Given the description of an element on the screen output the (x, y) to click on. 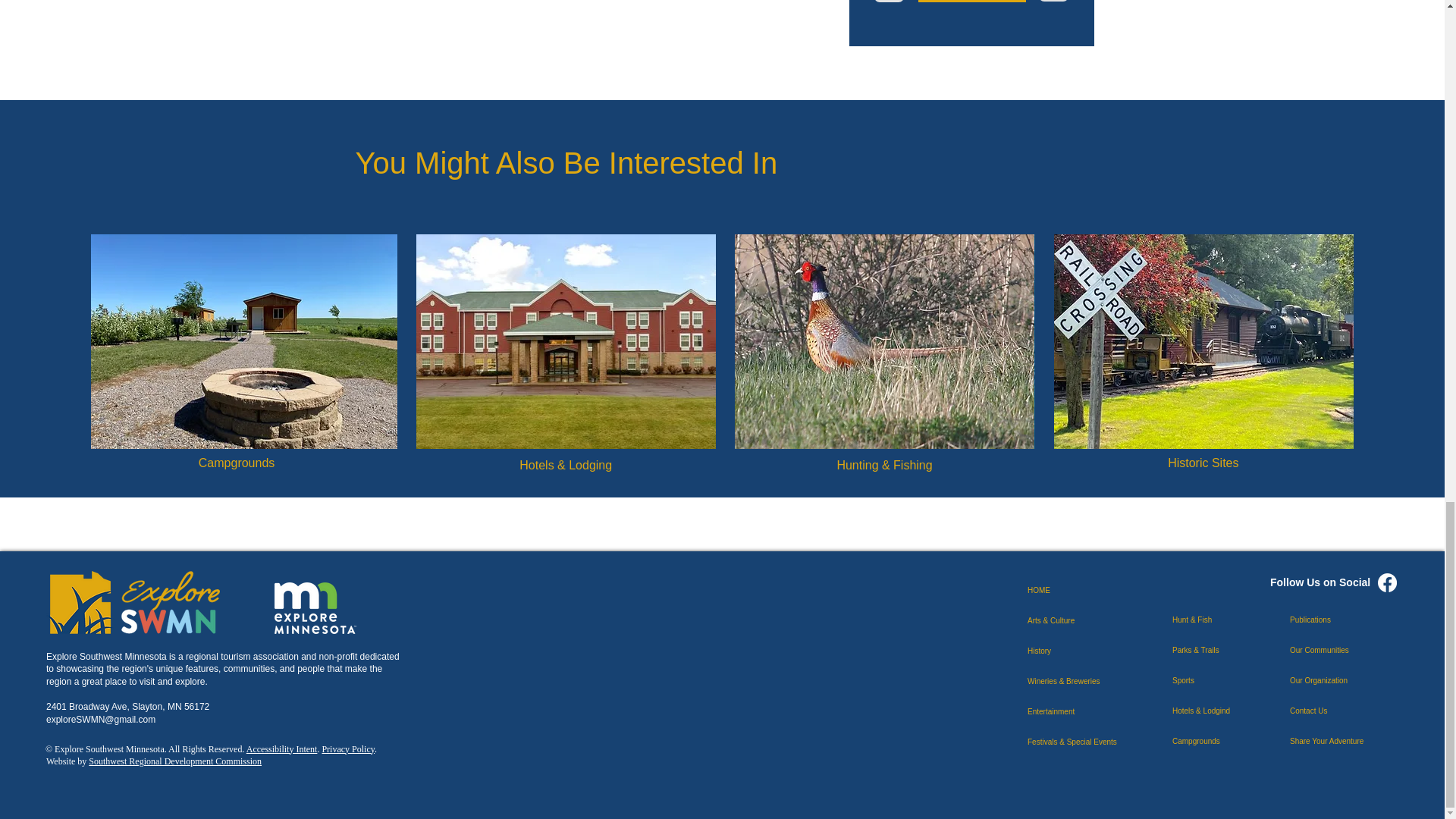
Historic Sites (1203, 463)
Back to List (971, 1)
History (1080, 651)
HOME (1080, 590)
Follow Us on Social (1319, 582)
Southwest Regional Development Commission (175, 760)
Campgrounds (236, 463)
Entertainment (1080, 711)
Privacy Policy (347, 748)
Accessibility Intent (281, 748)
